Given the description of an element on the screen output the (x, y) to click on. 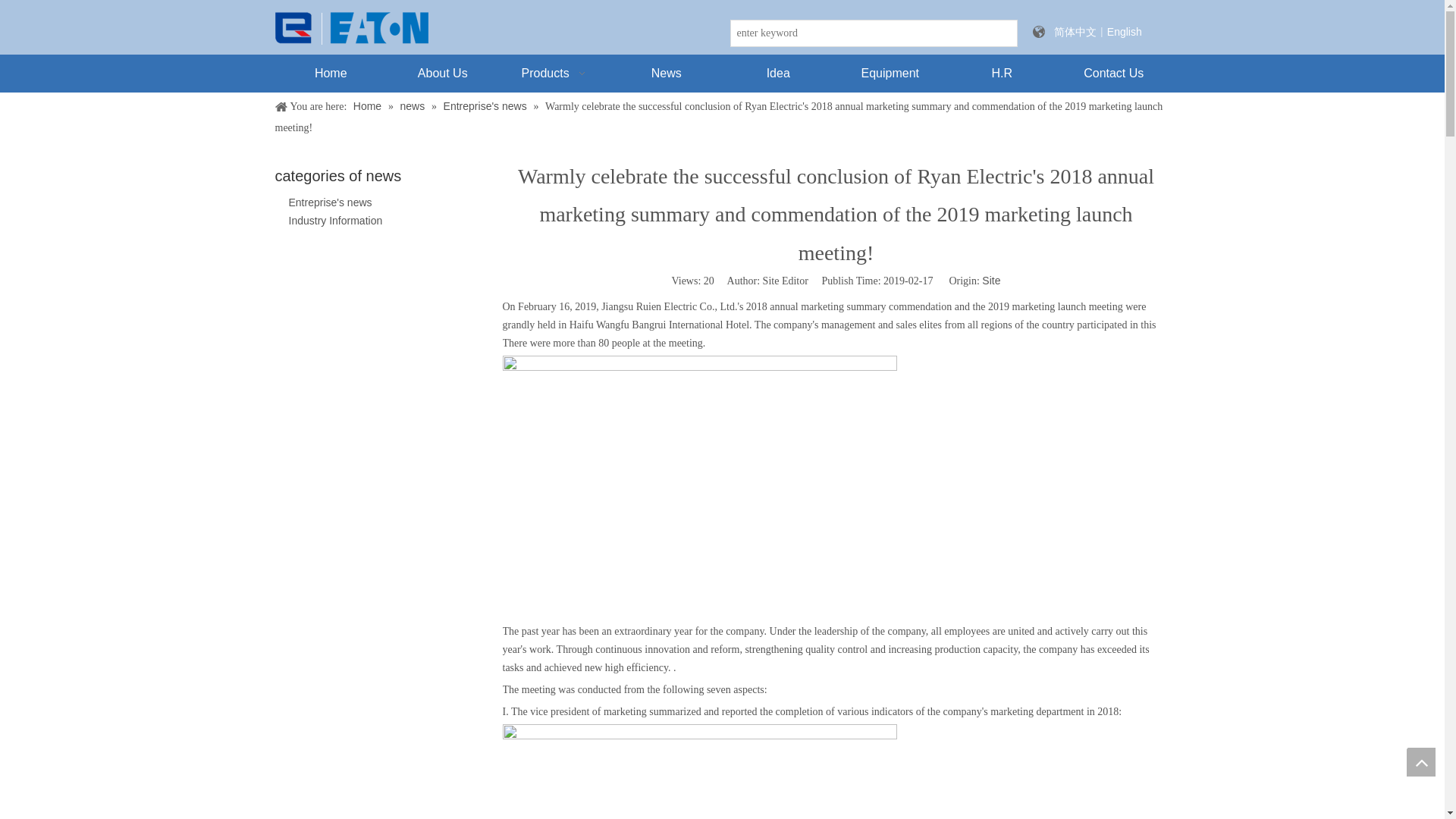
H.R (1002, 73)
Industry Information (334, 220)
Entreprise's news (329, 202)
news (414, 105)
Idea (778, 73)
top (1420, 761)
Entreprise's news (329, 202)
About Us (443, 73)
Entreprise's news (486, 105)
Products   (555, 73)
Site (990, 280)
Home (368, 105)
Contact Us (1114, 73)
Industry Information (334, 220)
News (666, 73)
